Given the description of an element on the screen output the (x, y) to click on. 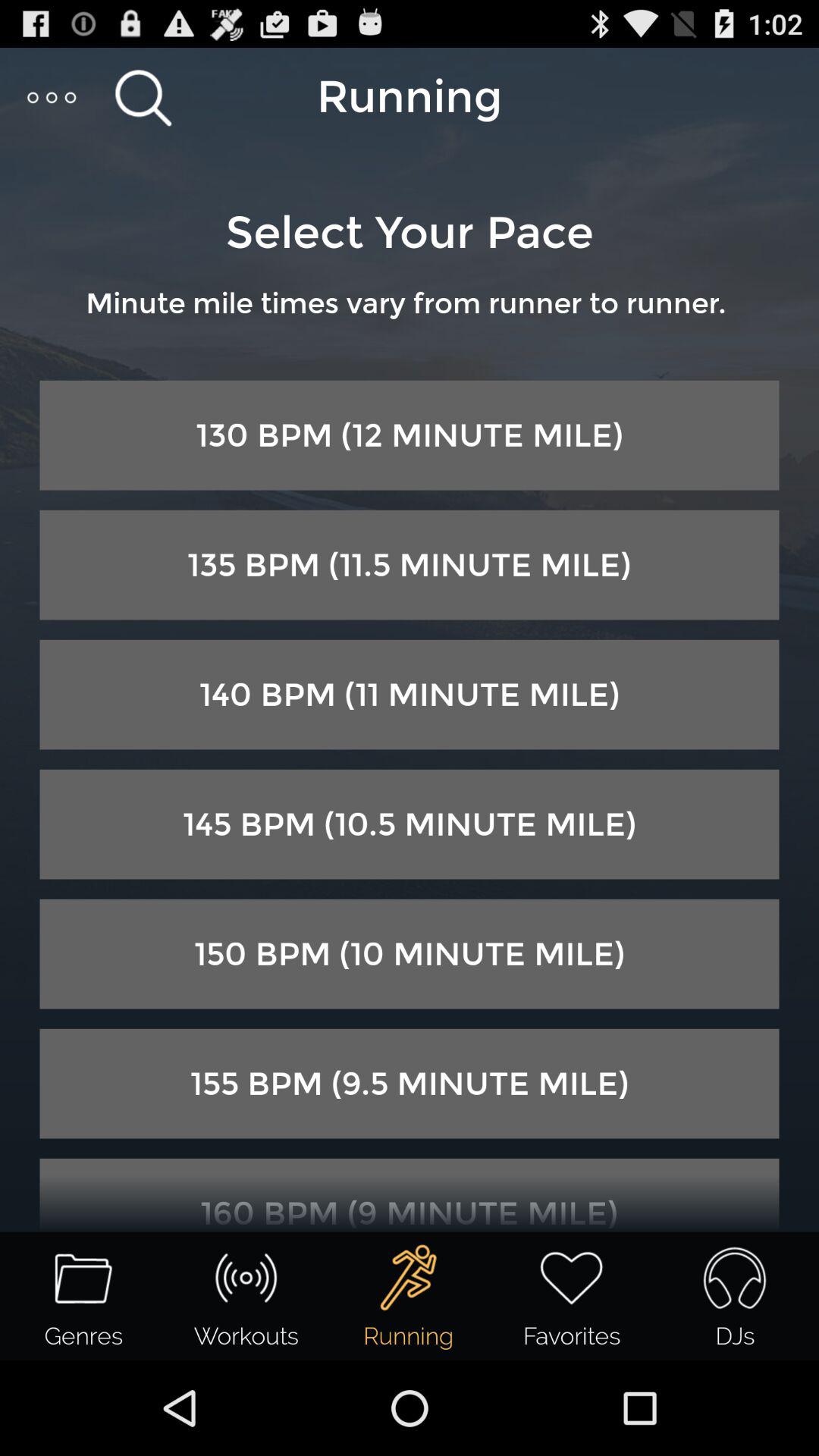
scroll to the 130 bpm 12 item (409, 435)
